Given the description of an element on the screen output the (x, y) to click on. 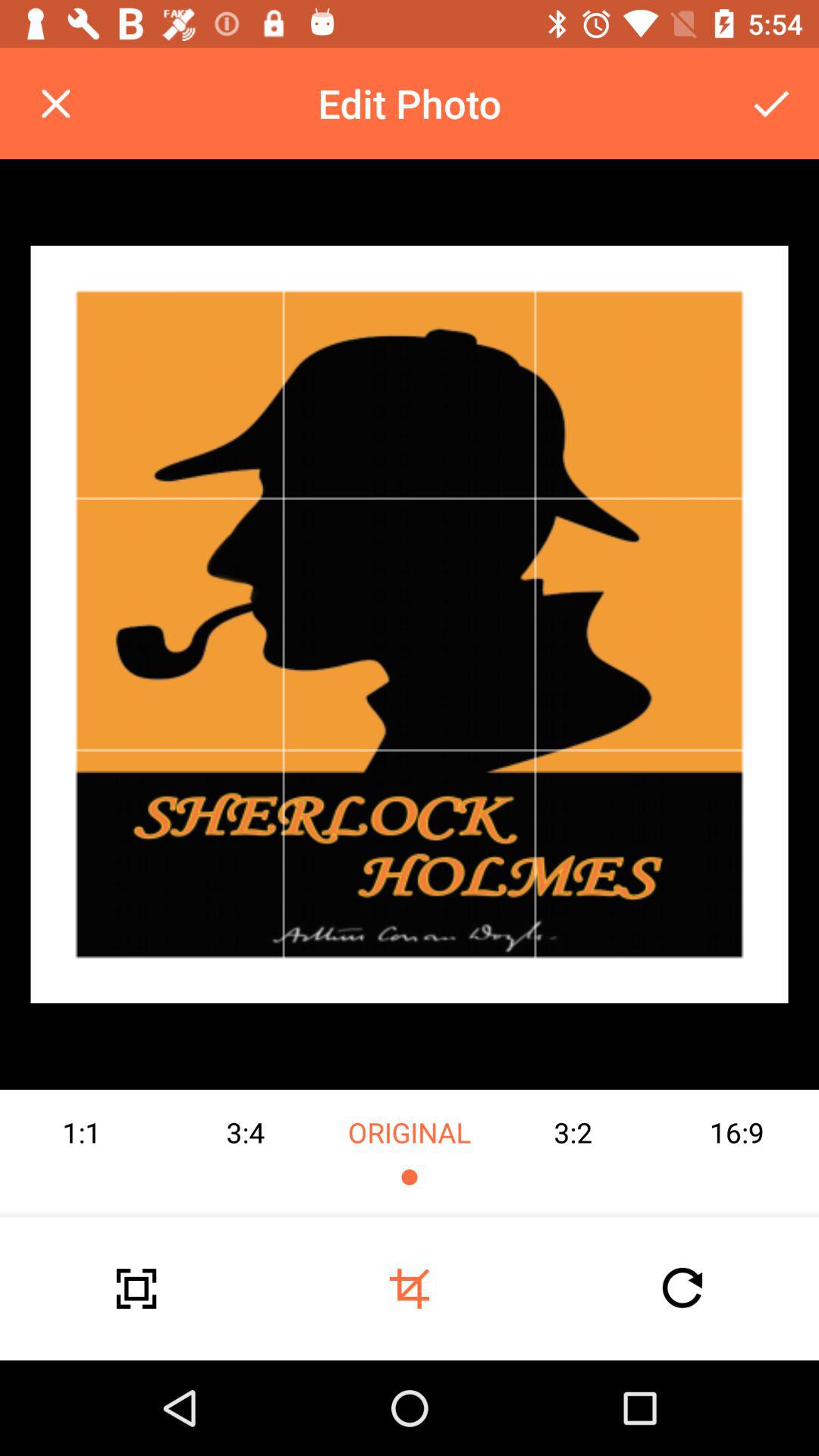
select original (409, 1153)
select the image (409, 624)
select 169 (737, 1153)
select the crop icon (409, 1288)
click on tick on the right corner (771, 103)
